Given the description of an element on the screen output the (x, y) to click on. 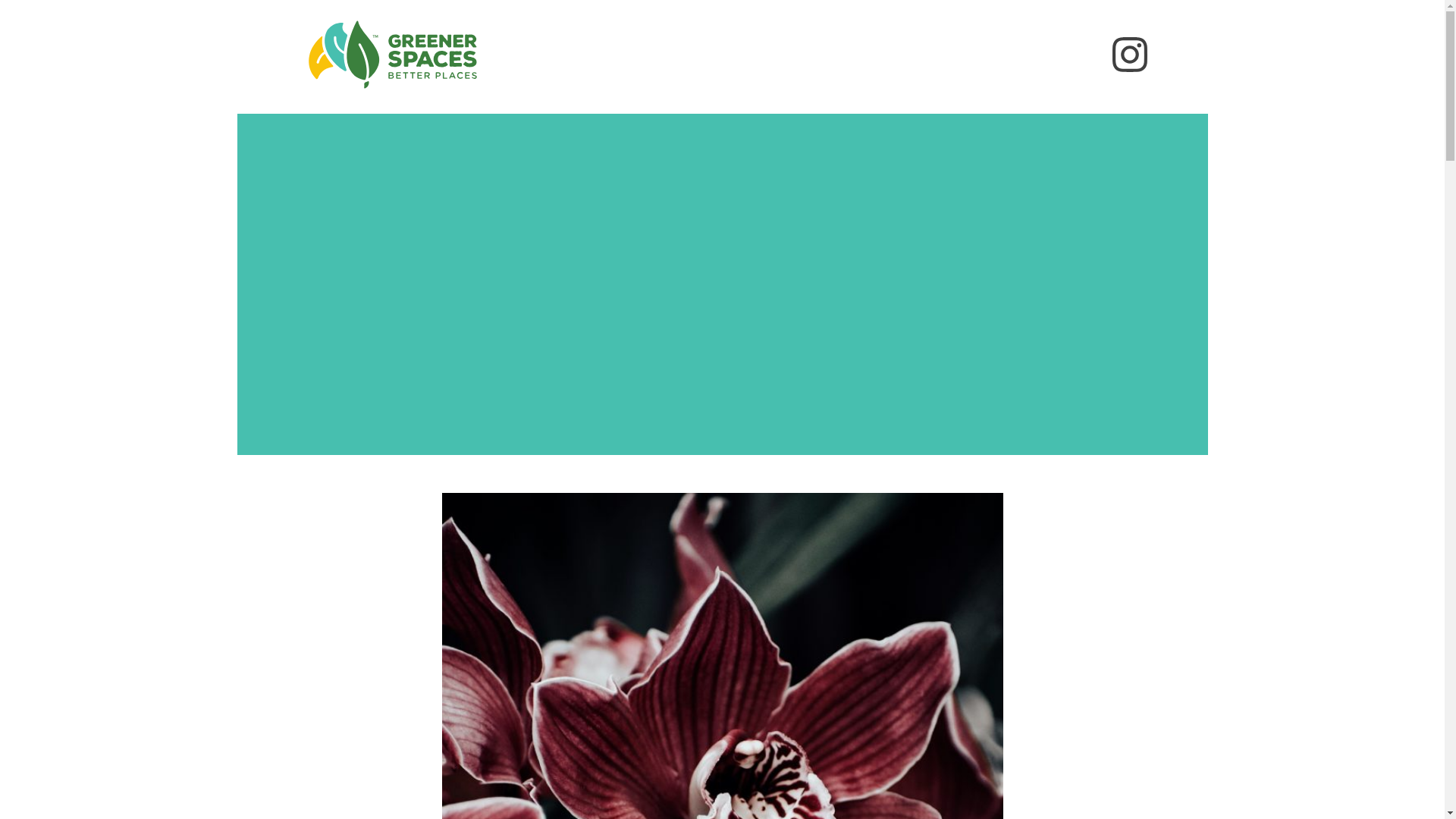
Greener Spaces (391, 95)
